Given the description of an element on the screen output the (x, y) to click on. 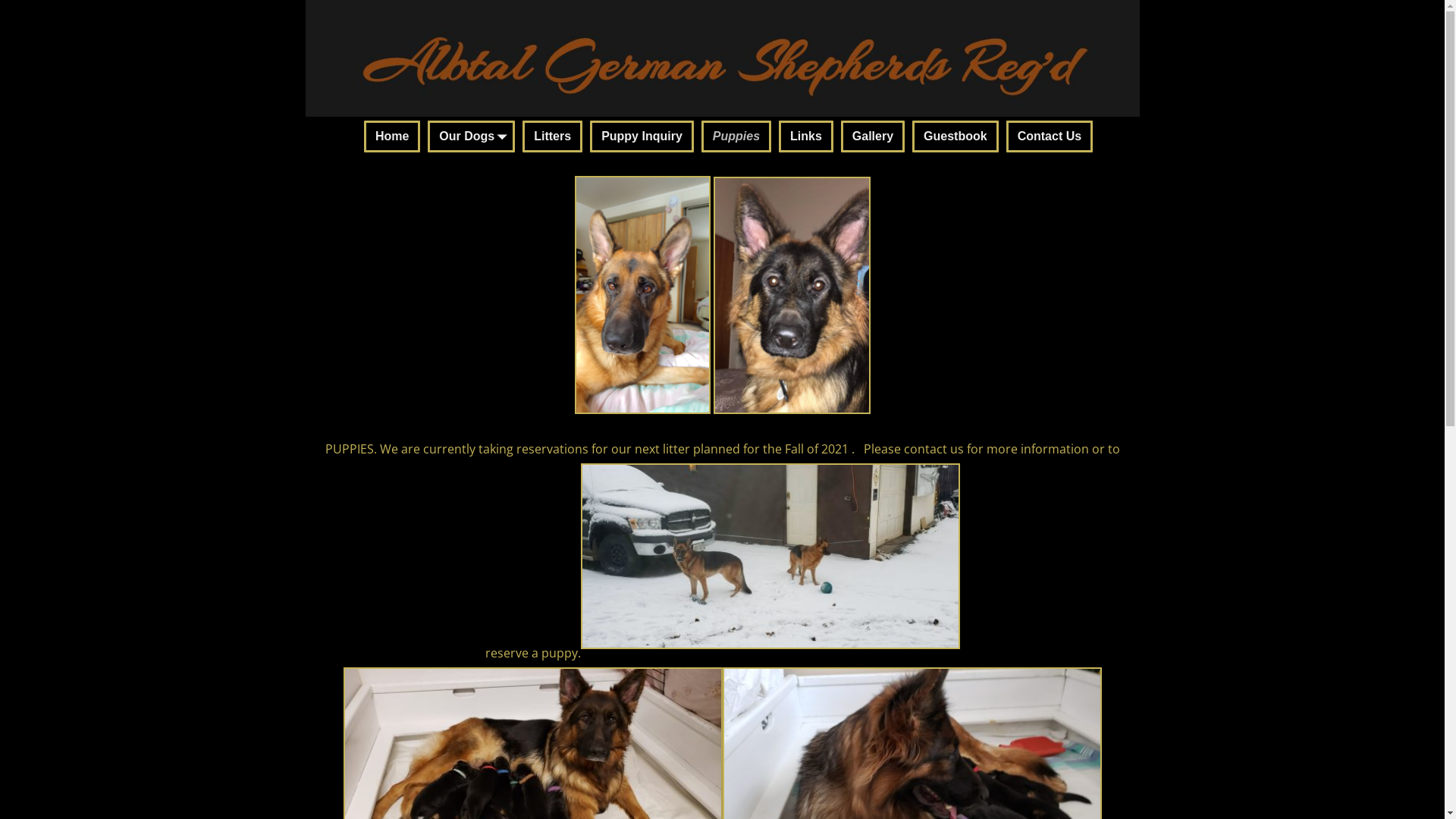
Puppies Element type: text (736, 135)
Links Element type: text (805, 135)
Puppy Inquiry Element type: text (641, 135)
Home Element type: text (392, 135)
Our Dogs Element type: text (470, 135)
Guestbook Element type: text (955, 135)
Contact Us Element type: text (1049, 135)
Gallery Element type: text (872, 135)
Litters Element type: text (552, 135)
